Given the description of an element on the screen output the (x, y) to click on. 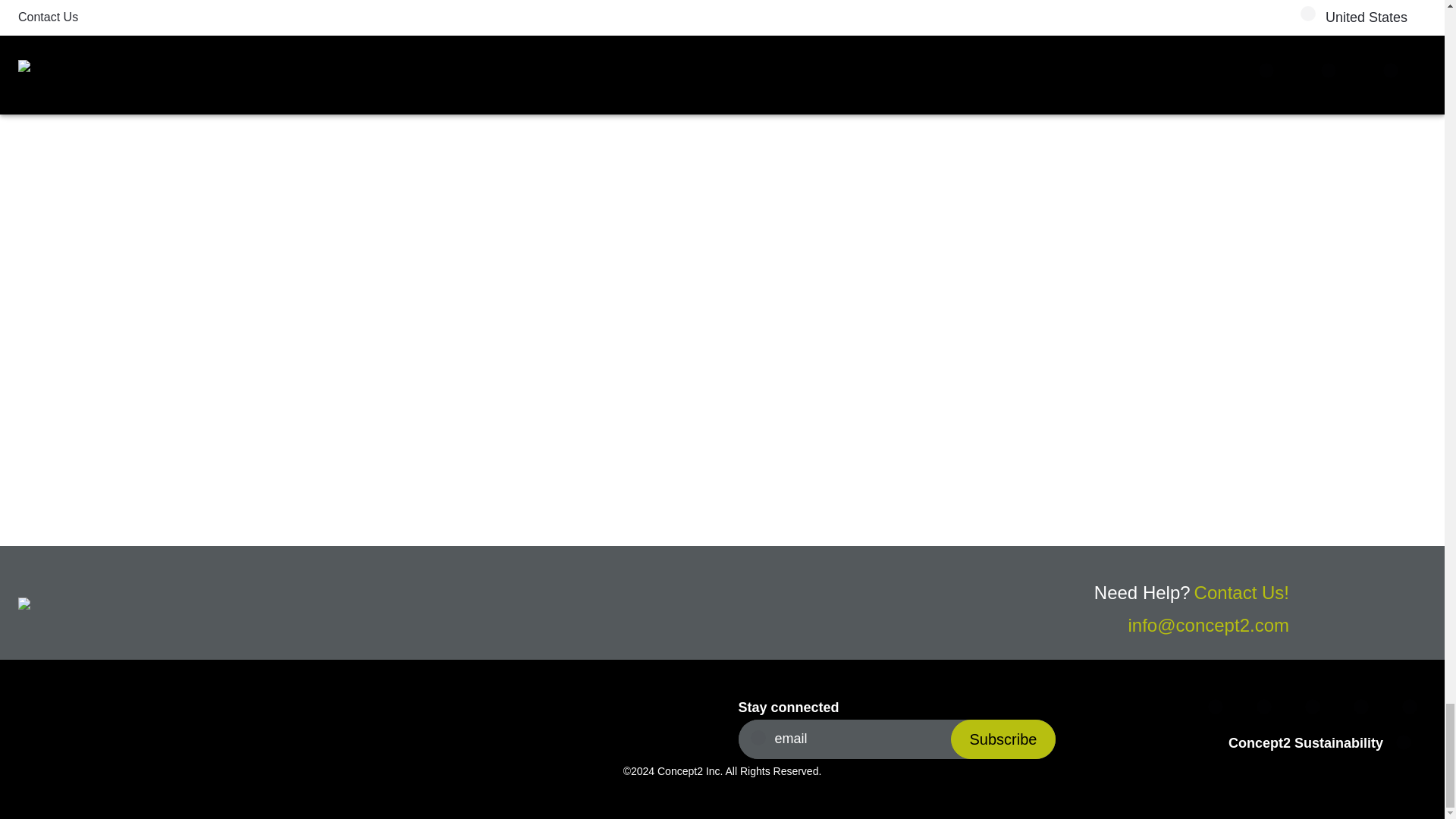
Follow us on Facebook! (1219, 707)
Subscribe (1003, 739)
Contact Us! (1240, 592)
Follow us on LinkedIn! (1365, 707)
Follow us on Instagram! (1316, 707)
Follow us on YouTube! (1414, 707)
